Given the description of an element on the screen output the (x, y) to click on. 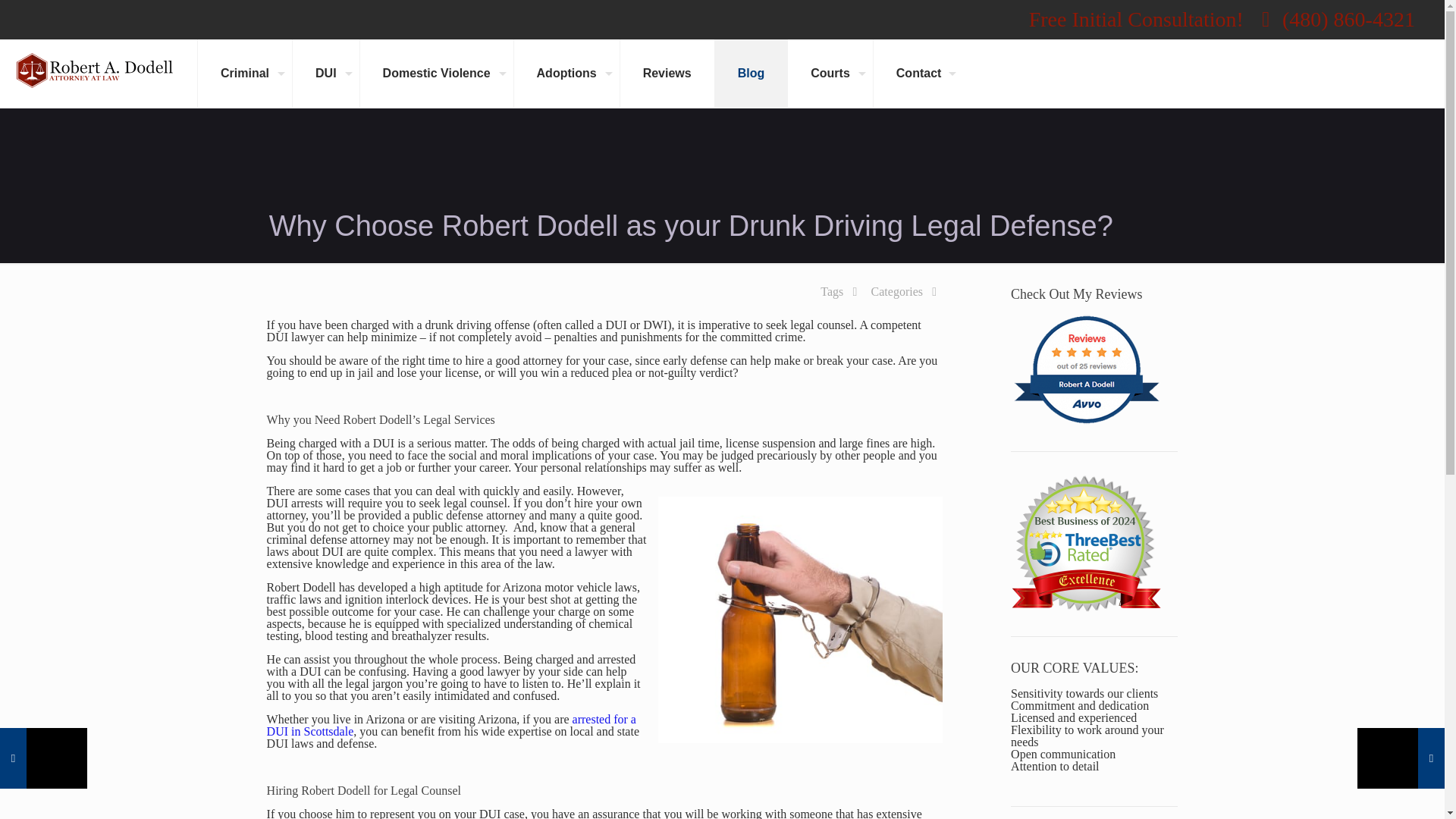
Adoptions (566, 73)
DUI (325, 73)
Criminal (244, 73)
Domestic Violence (436, 73)
